Given the description of an element on the screen output the (x, y) to click on. 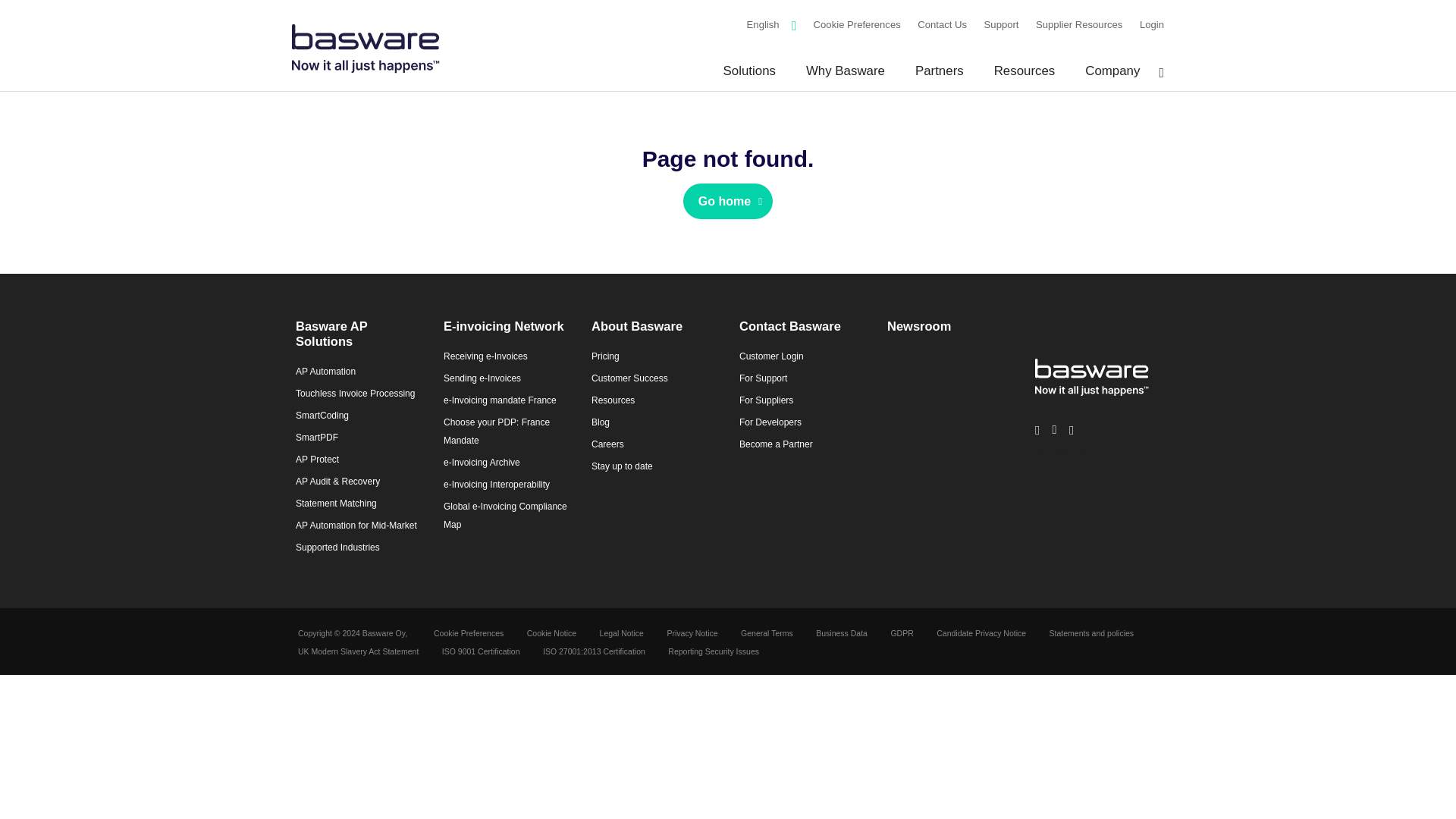
Support (1001, 24)
Solutions (749, 75)
English (762, 24)
Support (1001, 24)
Cookie Preferences (857, 24)
Solutions (749, 75)
Login (1151, 24)
Supplier Resources (1078, 24)
Login (1151, 24)
Contact Us (941, 24)
